Given the description of an element on the screen output the (x, y) to click on. 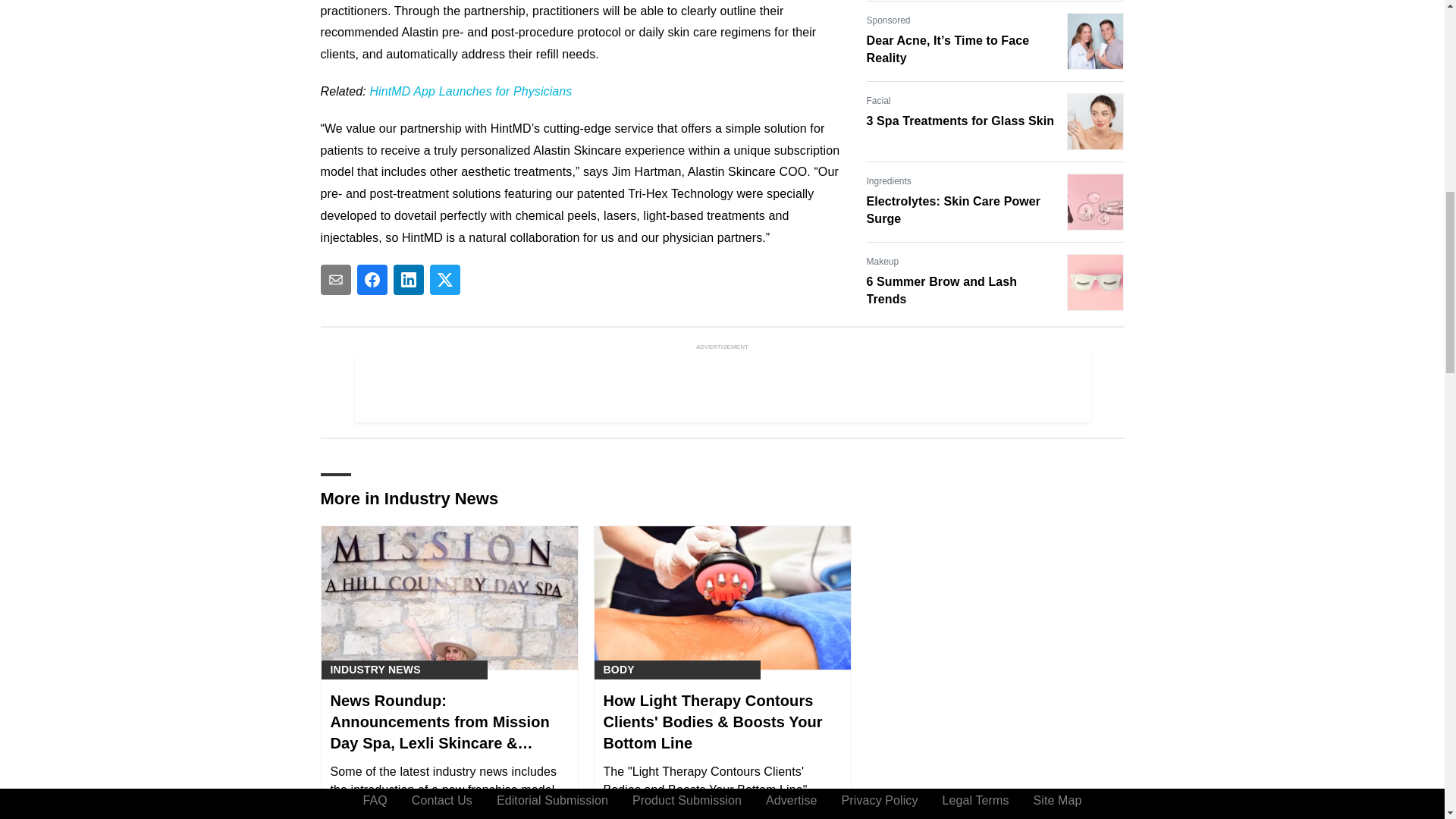
Share To email (335, 279)
Share To twitter (444, 279)
Share To linkedin (408, 279)
Sponsored (888, 20)
Share To facebook (371, 279)
